Given the description of an element on the screen output the (x, y) to click on. 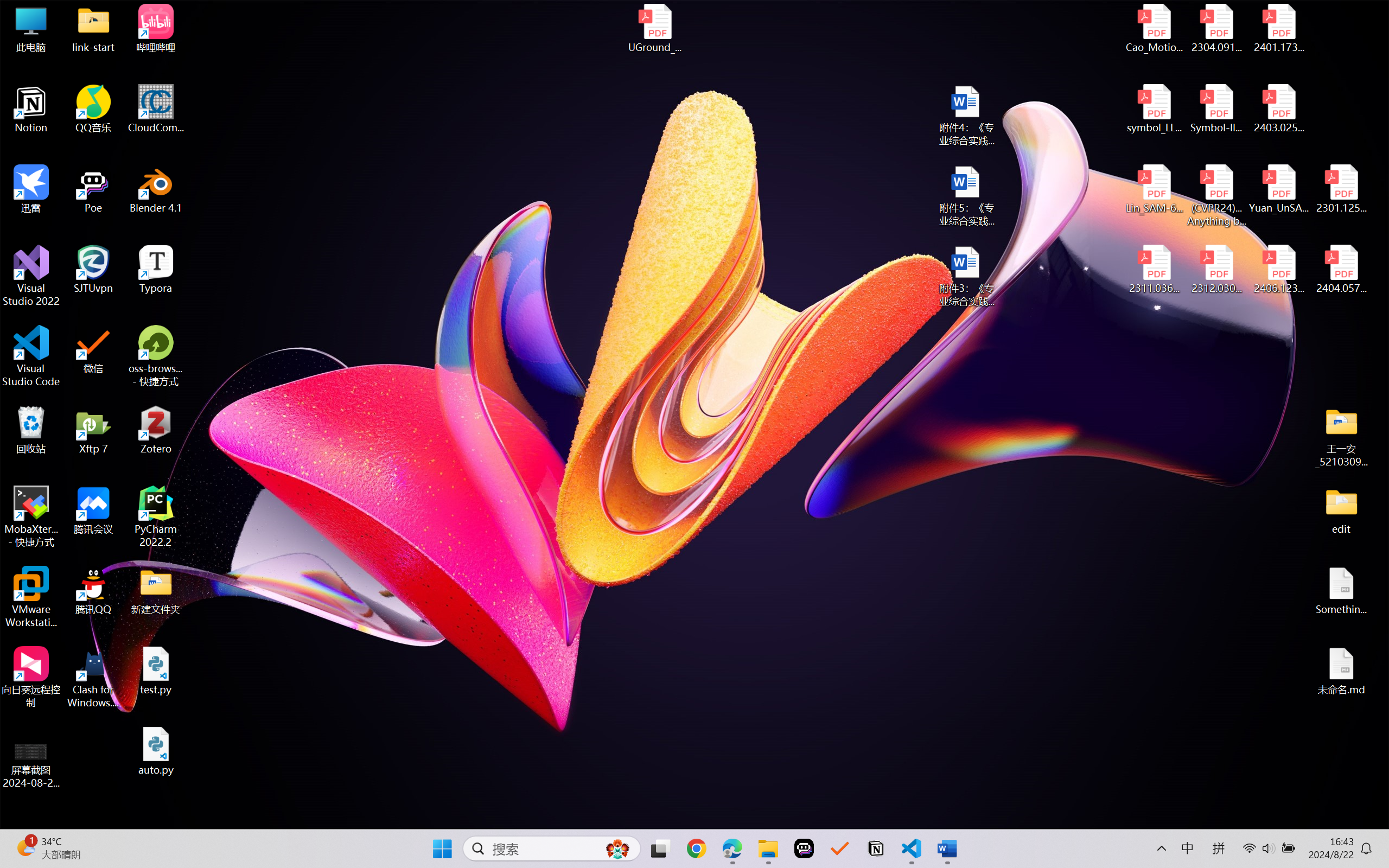
CloudCompare (156, 109)
2311.03658v2.pdf (1154, 269)
auto.py (156, 751)
2301.12597v3.pdf (1340, 189)
2312.03032v2.pdf (1216, 269)
Typora (156, 269)
